Given the description of an element on the screen output the (x, y) to click on. 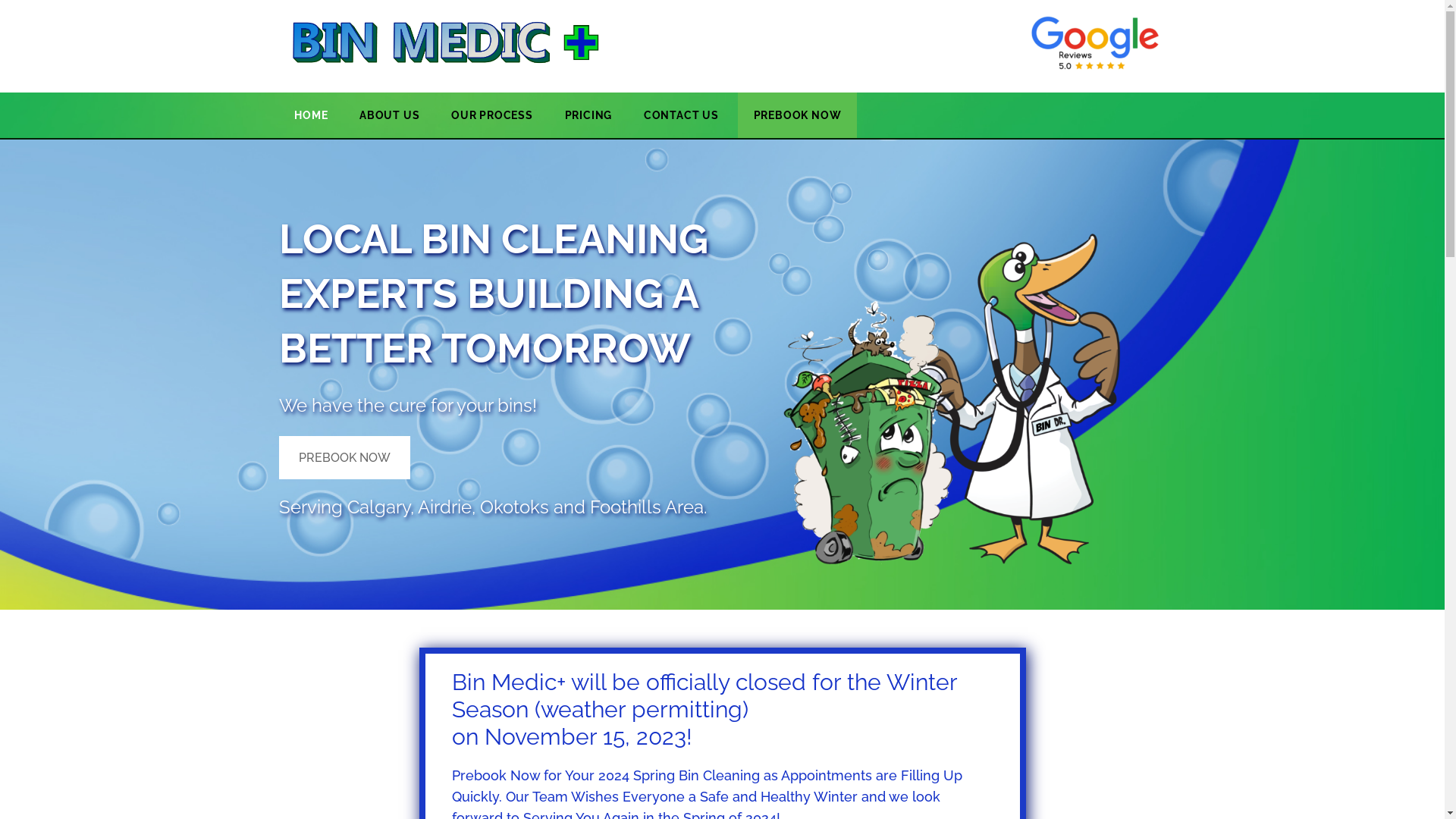
PREBOOK NOW Element type: text (796, 115)
ABOUT US Element type: text (389, 115)
OUR PROCESS Element type: text (491, 115)
PRICING Element type: text (588, 115)
CONTACT US Element type: text (672, 115)
duck-graphics Element type: hover (950, 374)
google-review Element type: hover (1094, 42)
HOME Element type: text (311, 115)
PREBOOK NOW Element type: text (344, 457)
